Given the description of an element on the screen output the (x, y) to click on. 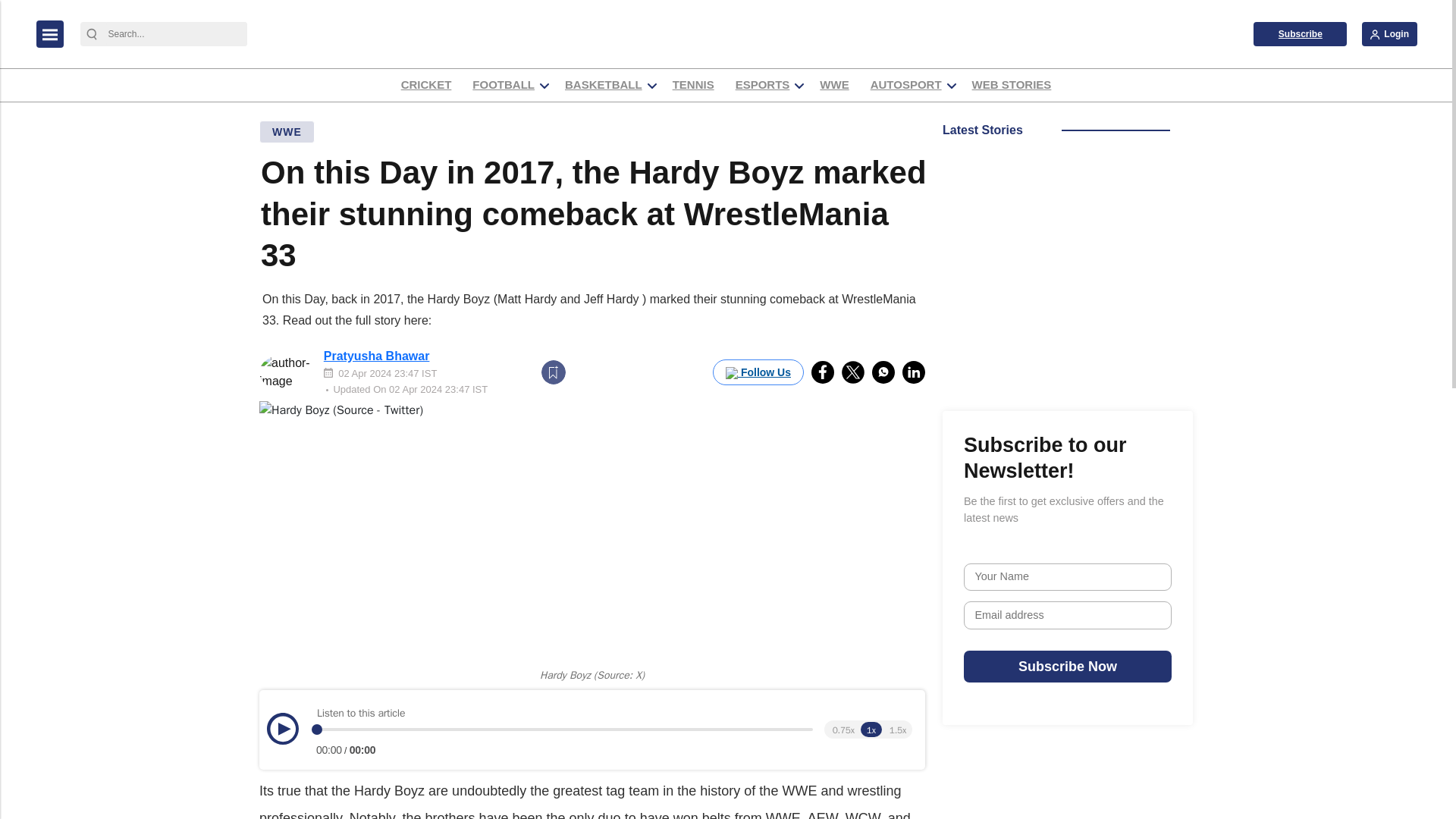
ESPORTS (762, 84)
Login (1388, 33)
FOOTBALL (503, 84)
BASKETBALL (603, 84)
WWE (833, 84)
TENNIS (692, 84)
Subscribe (1299, 33)
AUTOSPORT (905, 84)
CRICKET (426, 84)
